Given the description of an element on the screen output the (x, y) to click on. 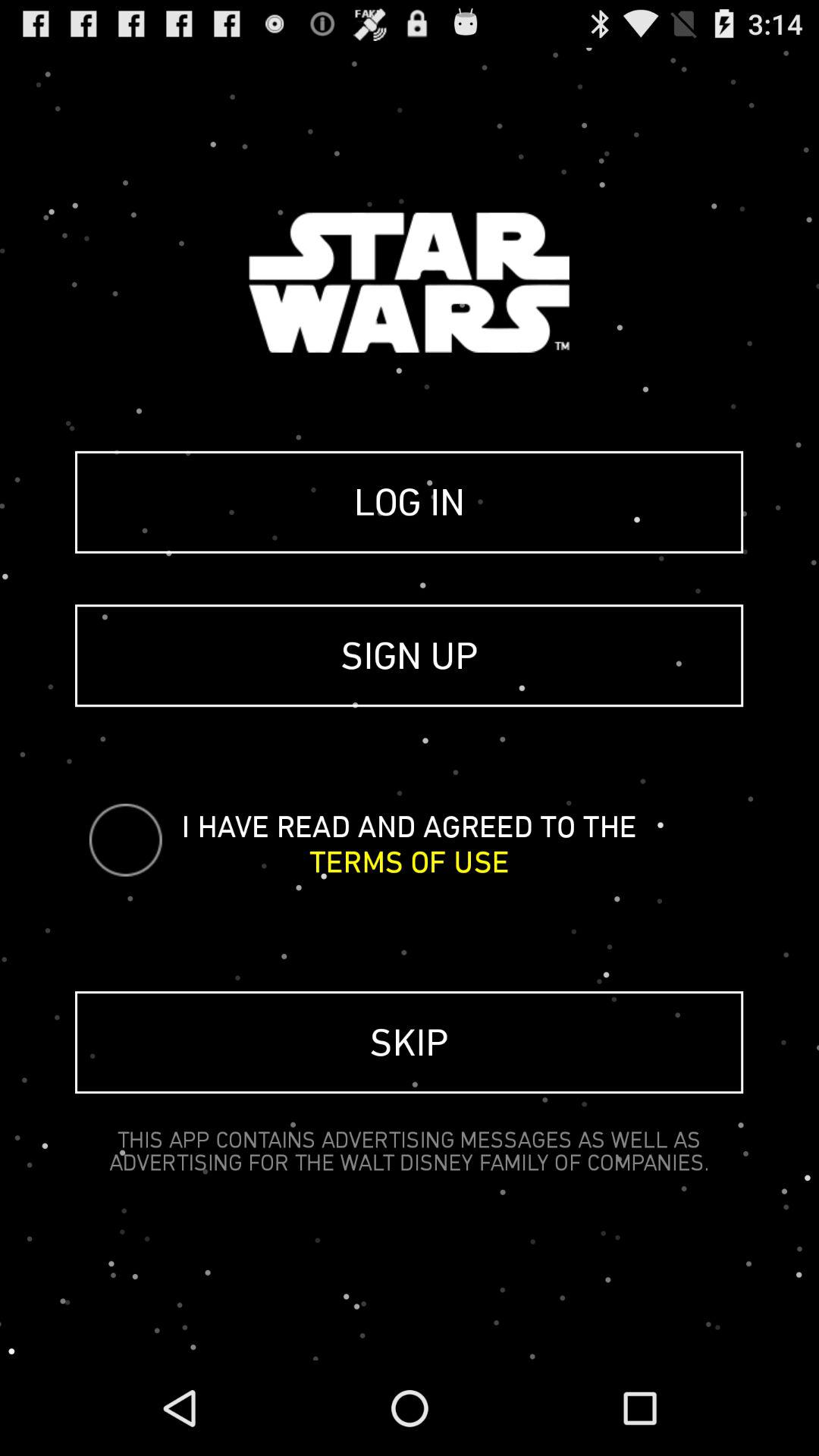
turn on icon below the terms of use item (409, 1042)
